Given the description of an element on the screen output the (x, y) to click on. 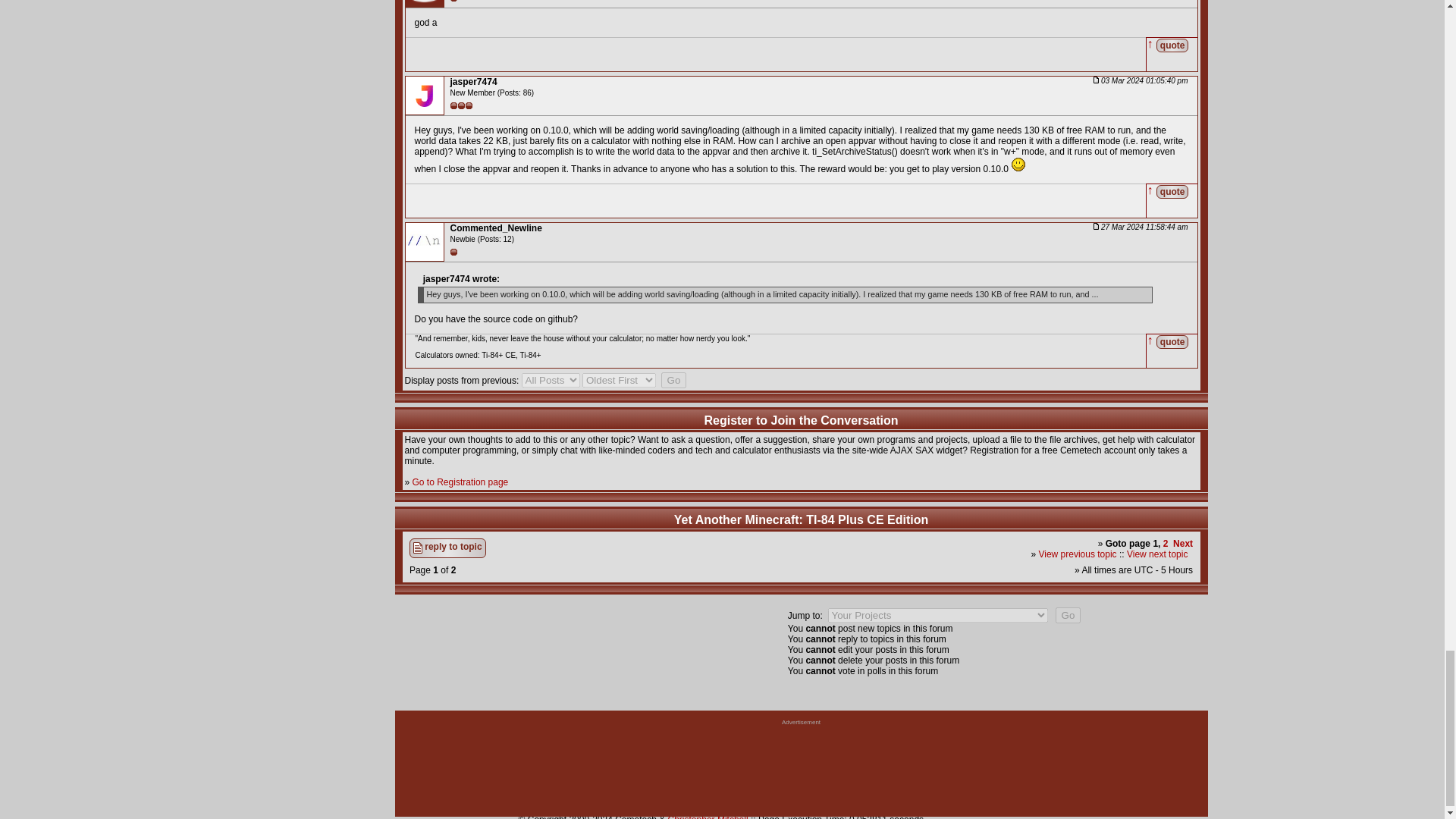
Go (674, 380)
Go (1068, 615)
